Given the description of an element on the screen output the (x, y) to click on. 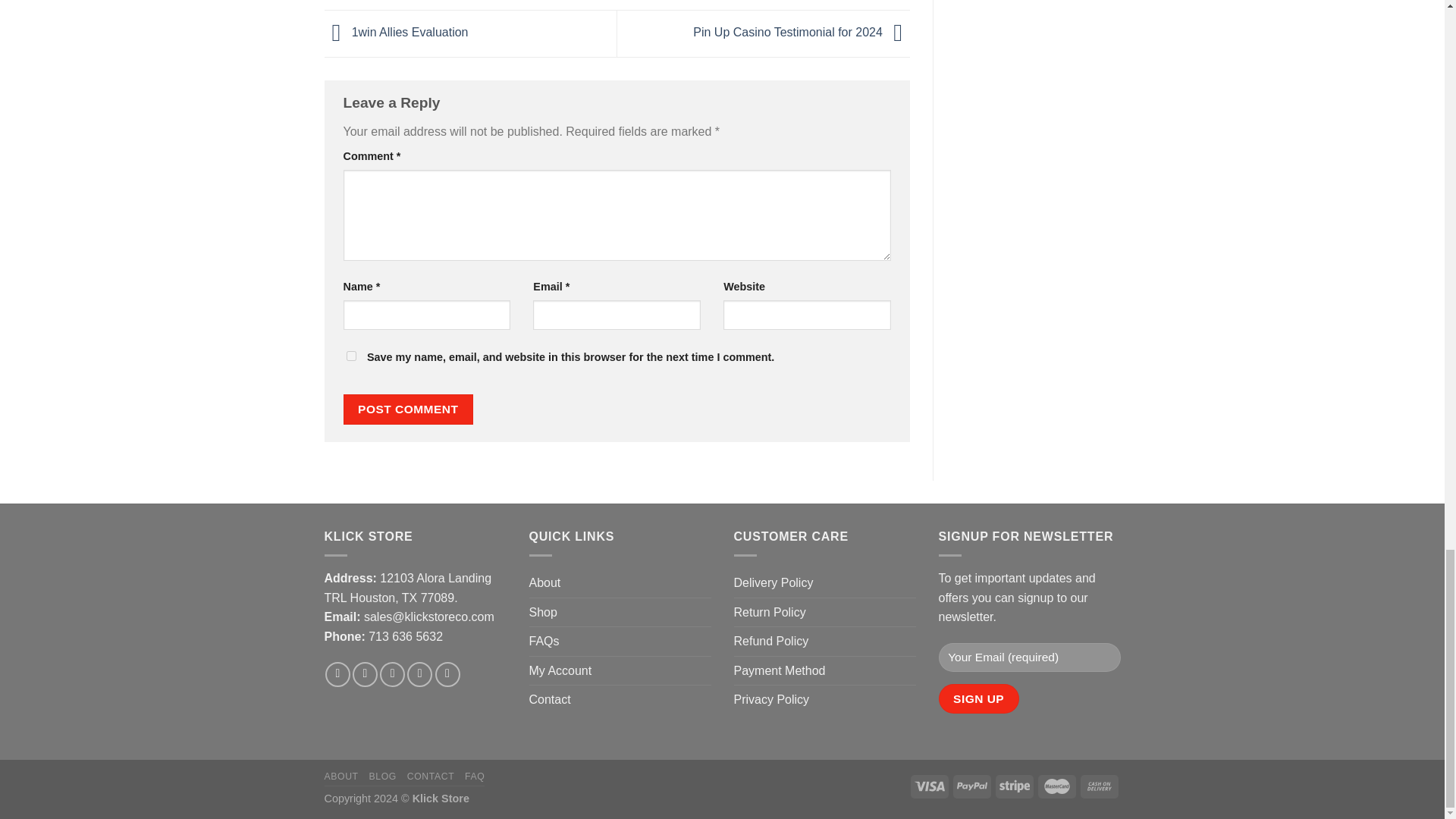
1win Allies Evaluation (396, 32)
Post Comment (407, 408)
Sign Up (979, 698)
yes (350, 356)
